Given the description of an element on the screen output the (x, y) to click on. 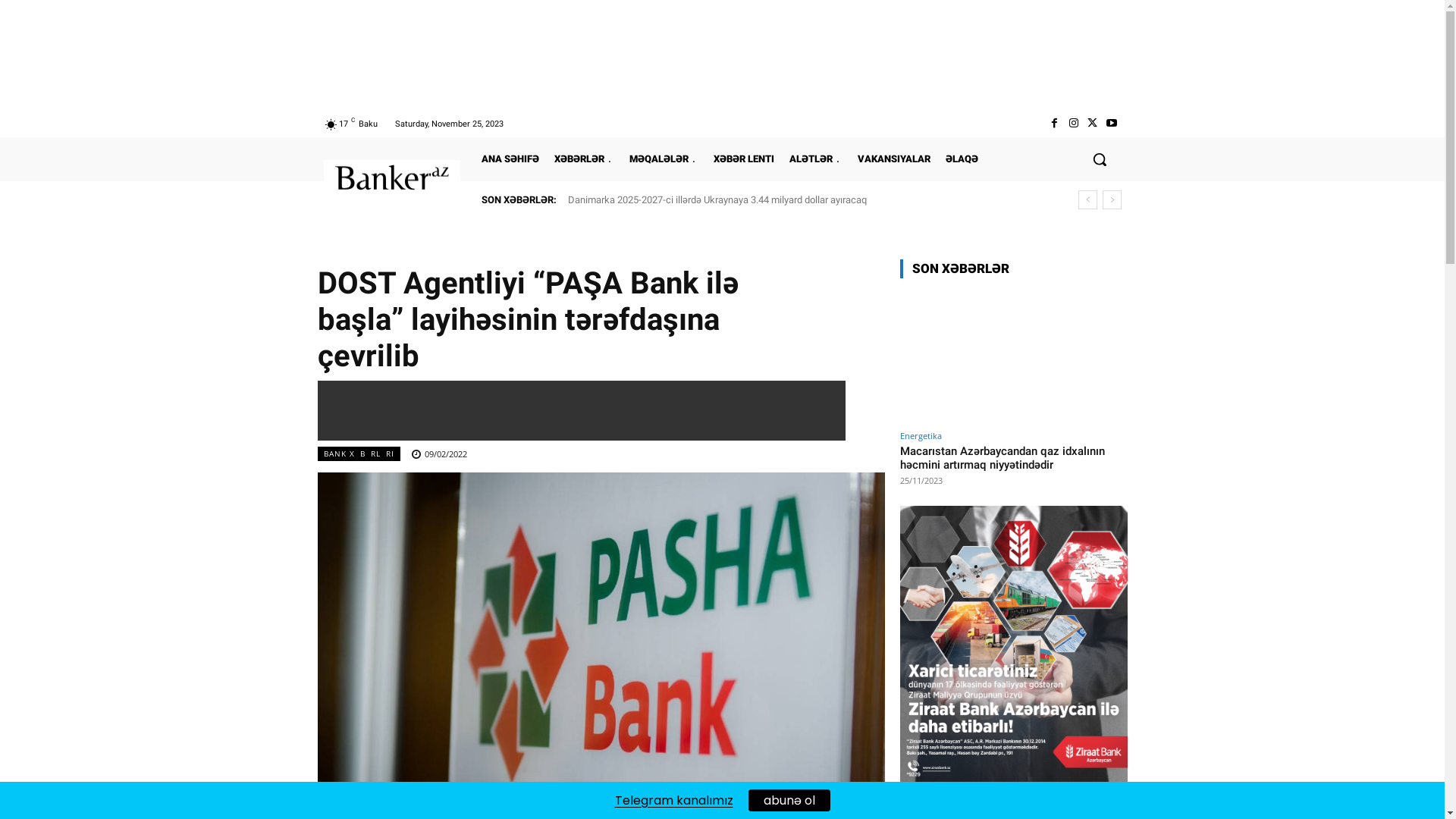
Energetika Element type: text (920, 435)
VAKANSIYALAR Element type: text (892, 158)
Youtube Element type: hover (1110, 123)
Instagram Element type: hover (1072, 123)
Facebook Element type: hover (1053, 123)
Twitter Element type: hover (1091, 123)
